Given the description of an element on the screen output the (x, y) to click on. 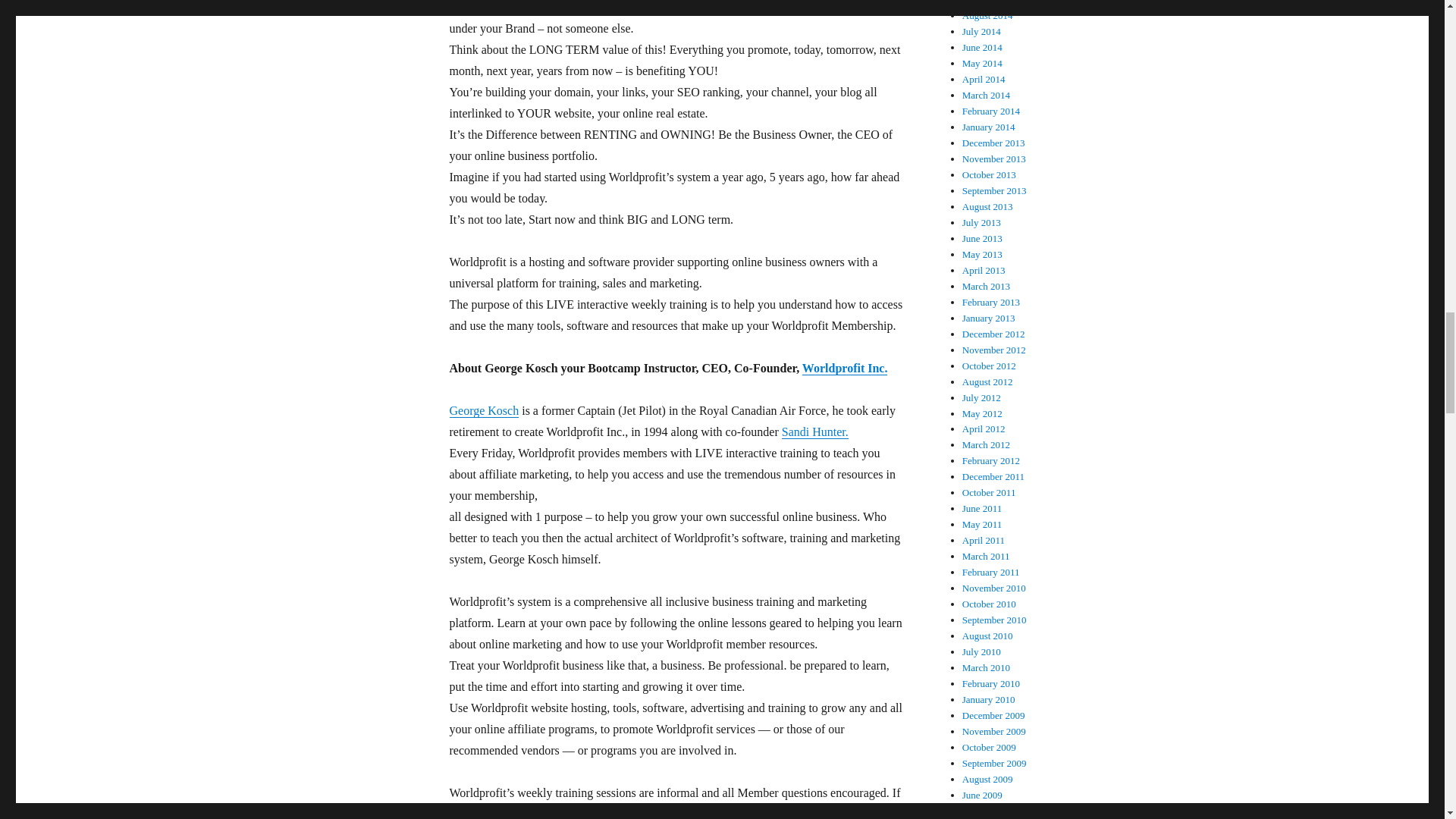
Sandi Hunter. (814, 431)
Worldprofit Inc. (845, 367)
George Kosch (483, 410)
